Given the description of an element on the screen output the (x, y) to click on. 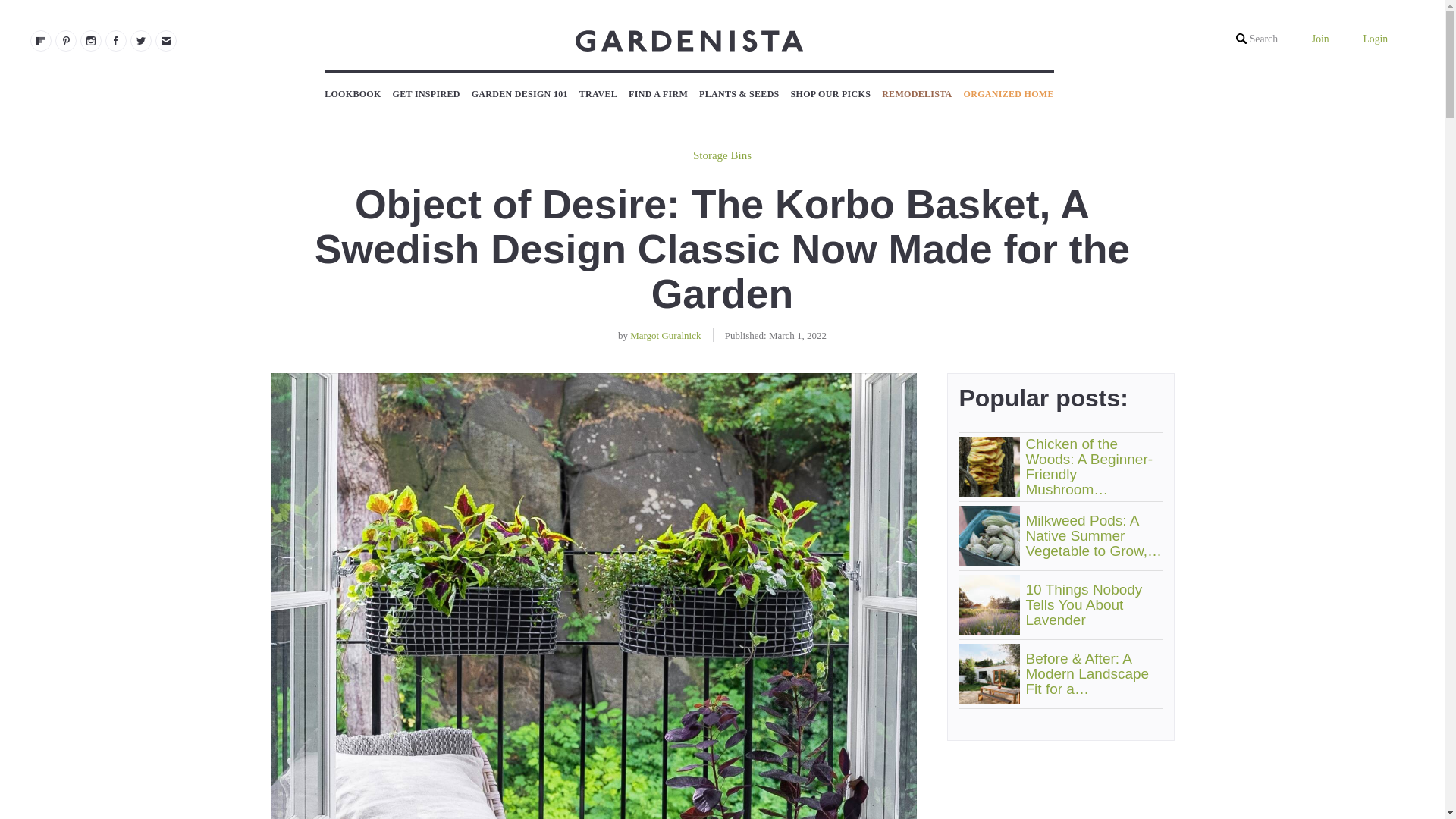
10 Things Nobody Tells You About Lavender (988, 604)
Posts by Margot Guralnick (665, 335)
